Given the description of an element on the screen output the (x, y) to click on. 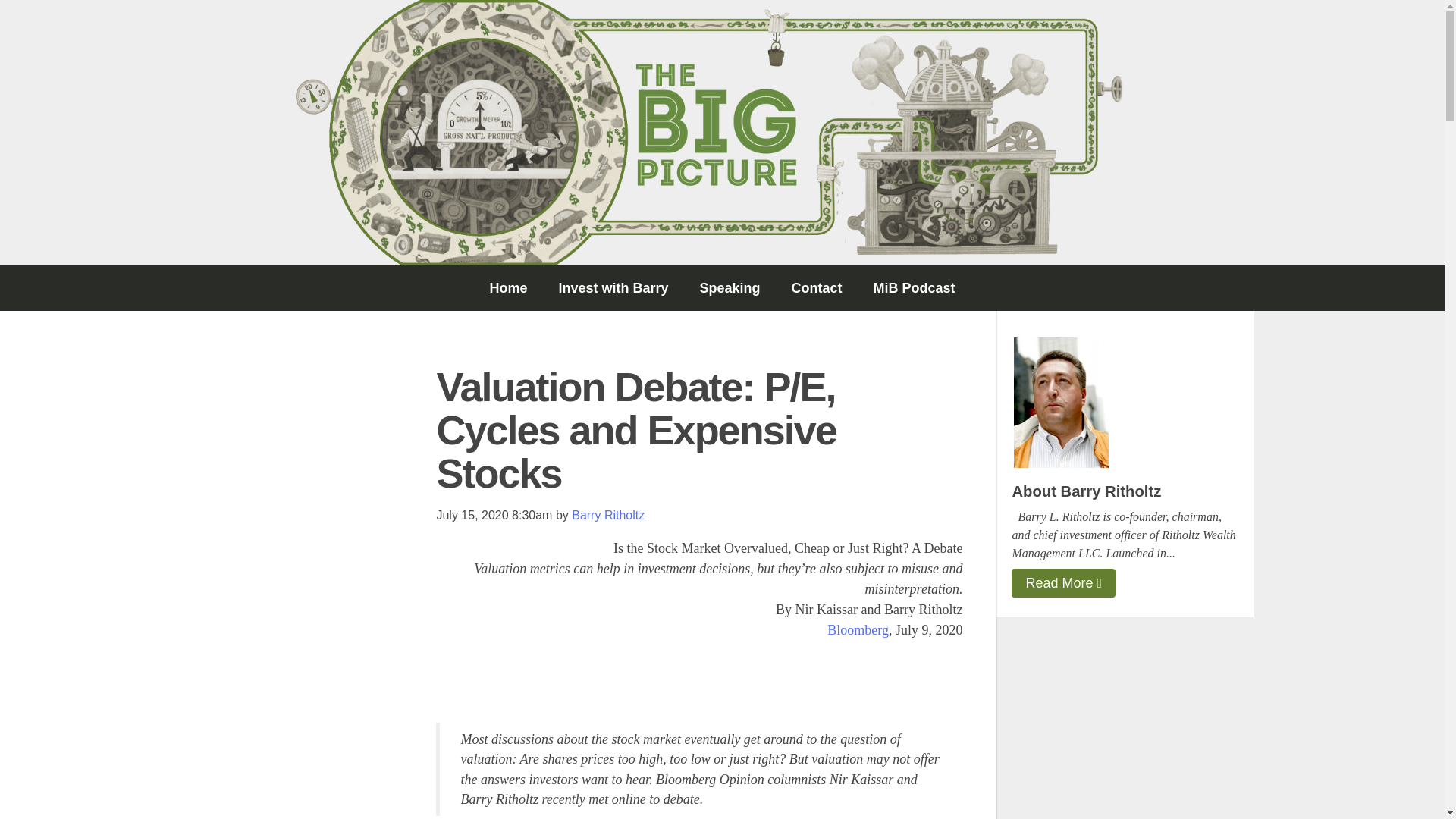
Speaking (729, 288)
Contact (816, 288)
Home (508, 288)
Bloomberg (857, 630)
MiB Podcast (914, 288)
Invest with Barry (612, 288)
Barry Ritholtz (608, 514)
Posts by Barry Ritholtz (608, 514)
Read More (1063, 582)
